Given the description of an element on the screen output the (x, y) to click on. 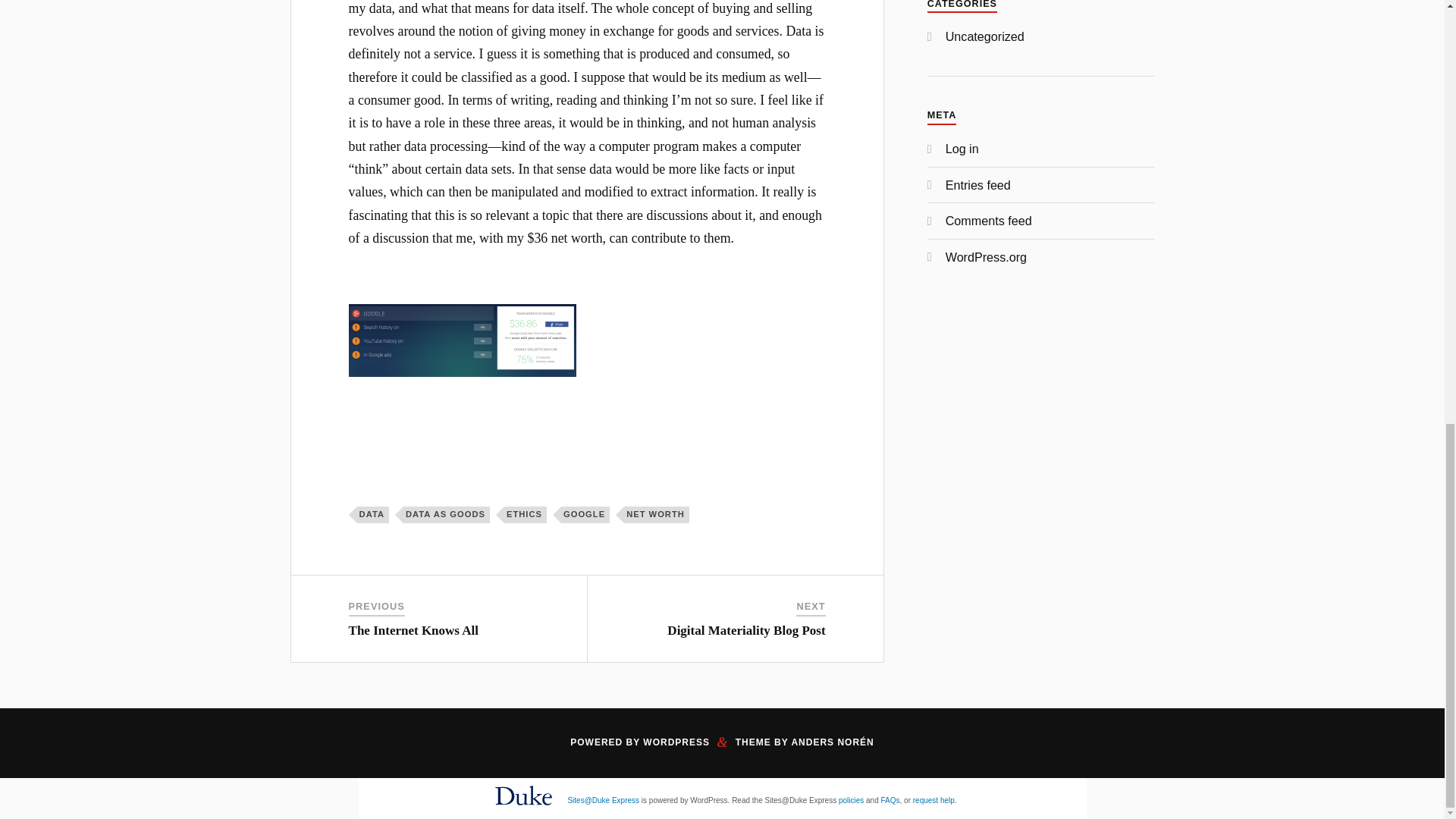
Visit Duke.edu (523, 808)
ETHICS (525, 514)
The Internet Knows All (414, 630)
NET WORTH (656, 514)
DATA AS GOODS (446, 514)
Entries feed (977, 184)
Uncategorized (984, 36)
WordPress.org (985, 256)
Comments feed (988, 220)
Digital Materiality Blog Post (745, 630)
